Given the description of an element on the screen output the (x, y) to click on. 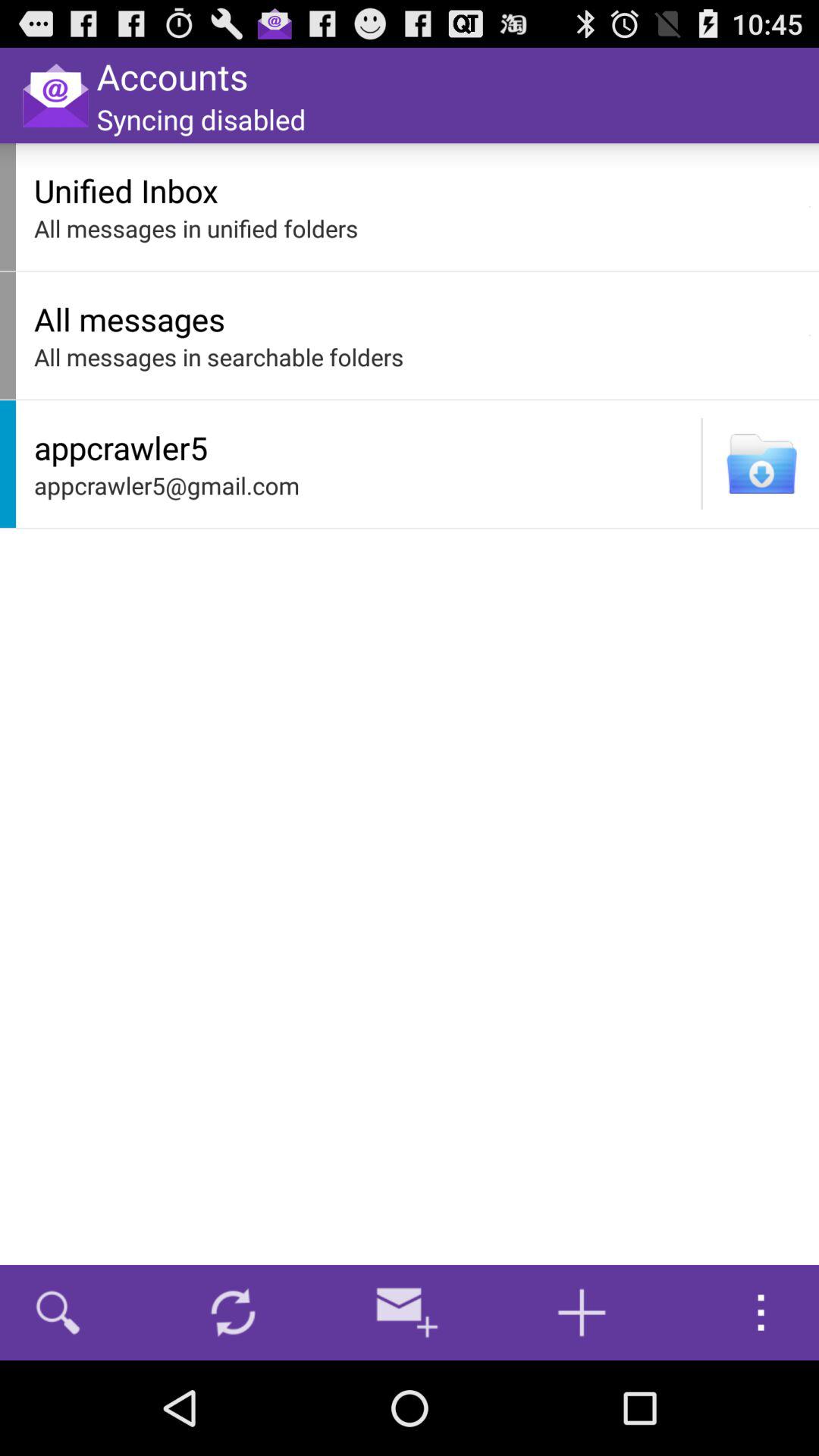
turn off app to the right of the unified inbox (809, 206)
